Given the description of an element on the screen output the (x, y) to click on. 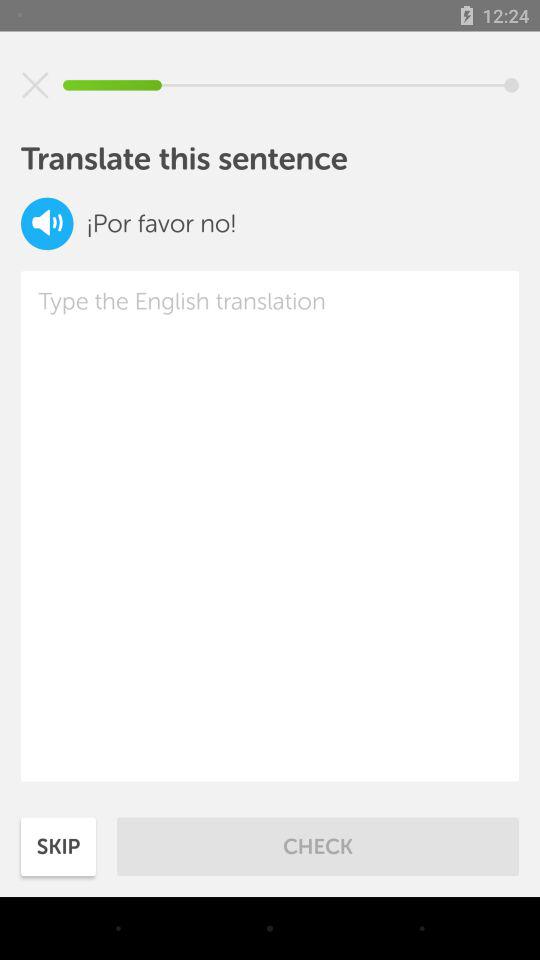
close the page (35, 85)
